Given the description of an element on the screen output the (x, y) to click on. 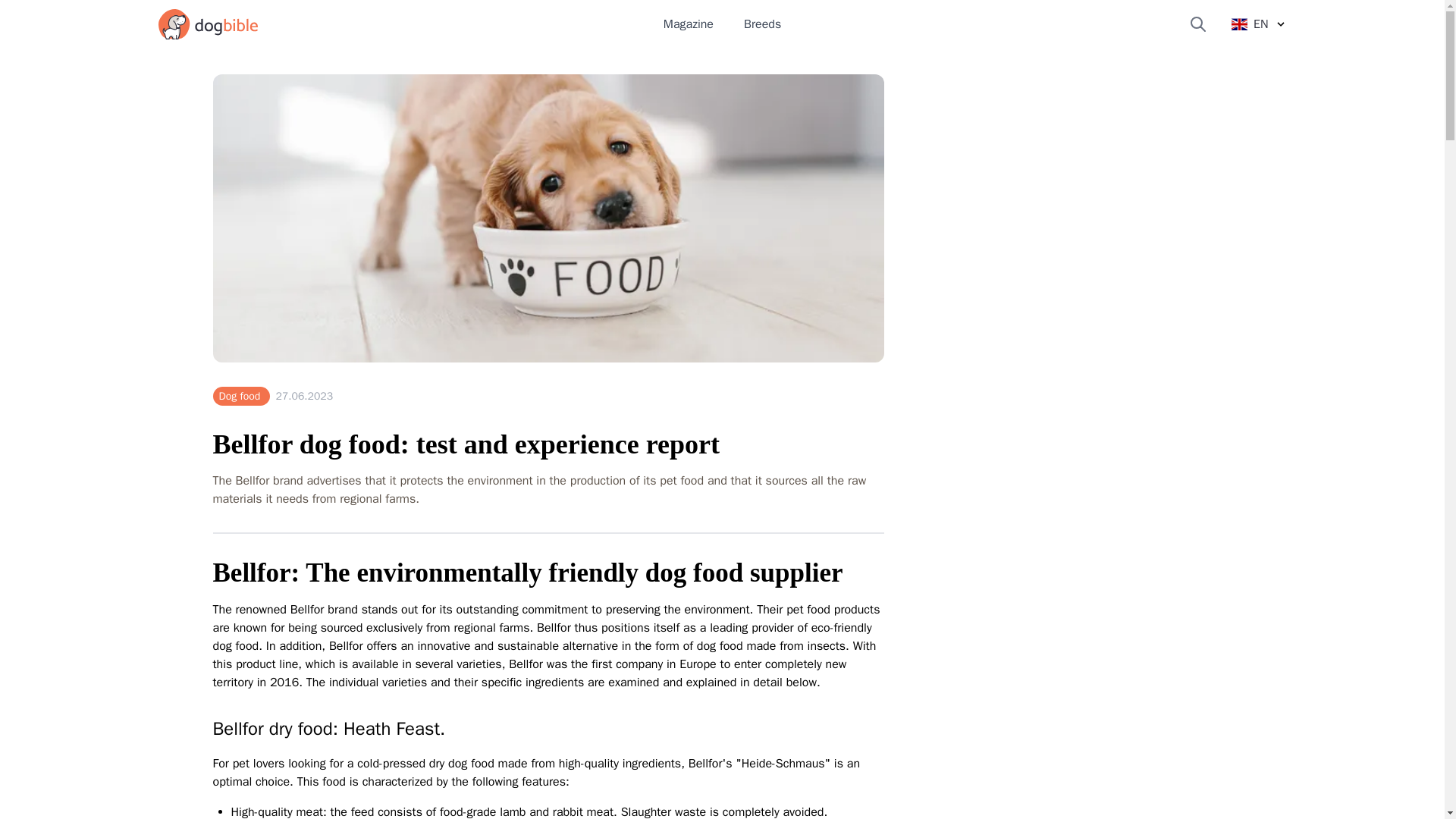
dogbible - a platform for people who love dogs (207, 24)
EN (1259, 24)
dogbible (207, 24)
Dog food (240, 395)
Breeds (762, 23)
Magazine (688, 23)
